Given the description of an element on the screen output the (x, y) to click on. 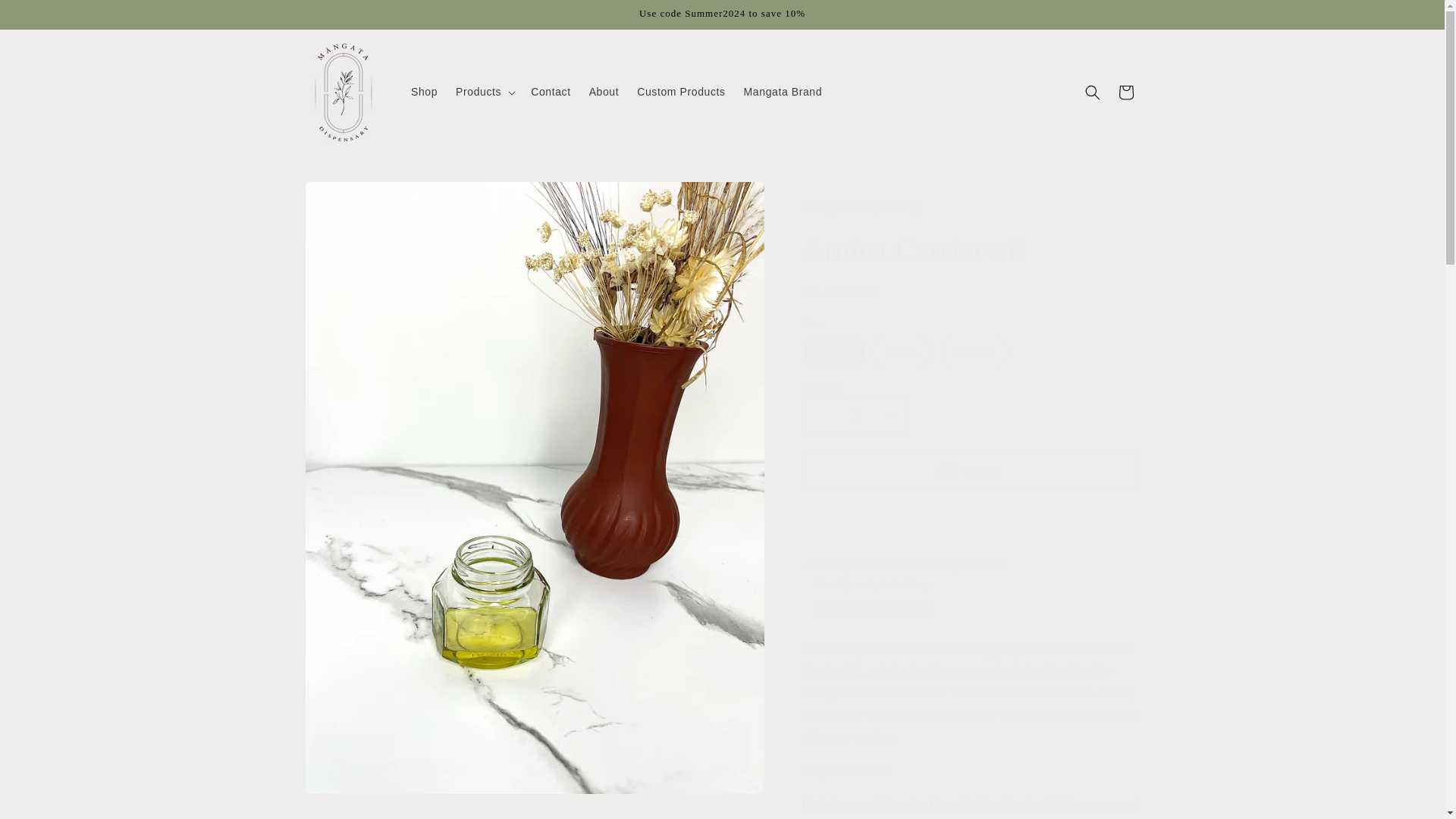
About (603, 91)
Custom Products (680, 91)
Skip to content (45, 17)
1 (856, 416)
Shop (423, 91)
Mangata Brand (783, 91)
Cart (1124, 92)
